Given the description of an element on the screen output the (x, y) to click on. 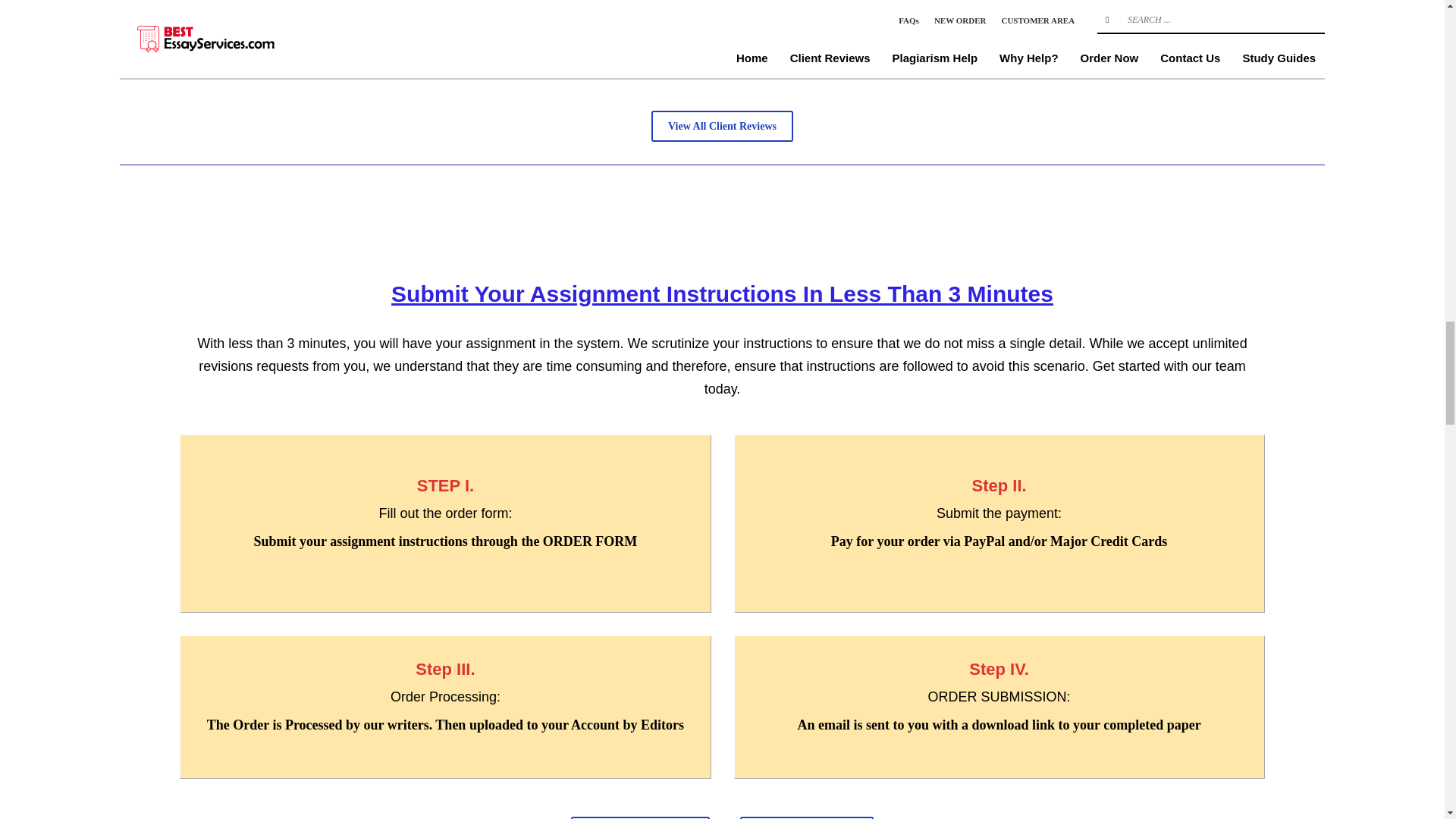
Calculate Order Price (806, 817)
View All Client Reviews (721, 125)
Order Homework Help (640, 817)
